Given the description of an element on the screen output the (x, y) to click on. 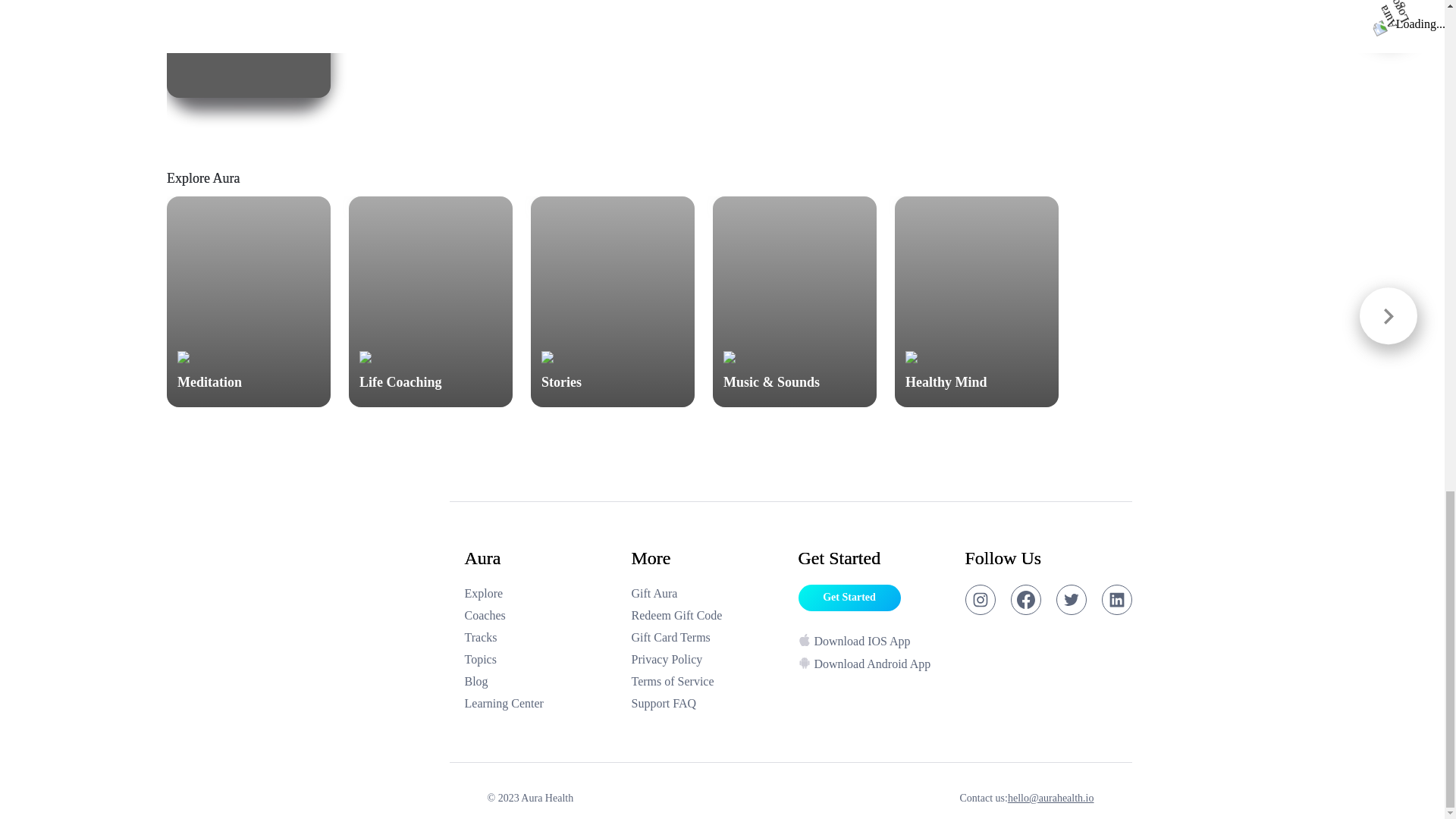
Learning Center (539, 703)
Gift Aura (706, 593)
Download IOS App (873, 642)
Download Android App (873, 663)
Get Started (848, 597)
Blog (539, 681)
Tracks (539, 637)
Gift Card Terms (706, 637)
Redeem Gift Code (706, 615)
Explore (539, 593)
Privacy Policy (706, 659)
Coaches (539, 615)
Support FAQ (706, 703)
